Given the description of an element on the screen output the (x, y) to click on. 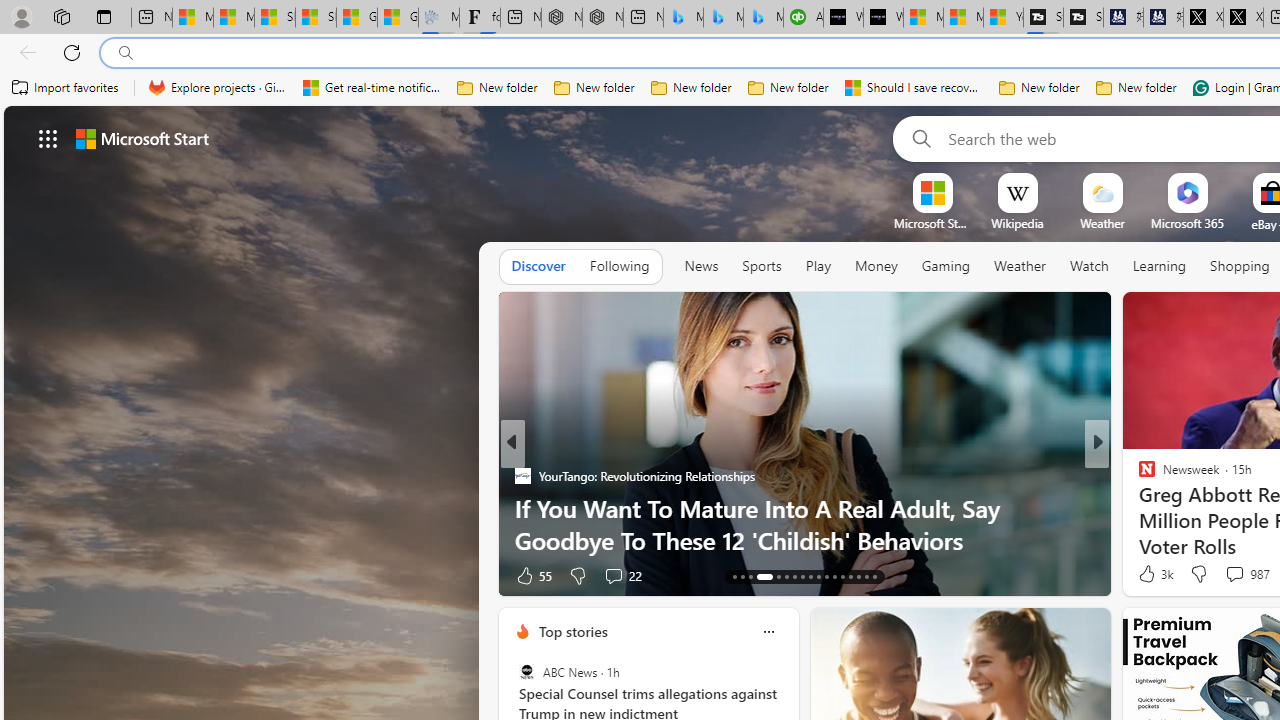
AutomationID: tab-22 (818, 576)
Sports (761, 267)
View comments 251 Comment (632, 574)
Housely (1138, 475)
The Weather Channel (1138, 475)
Money (876, 267)
PsychLove (1138, 475)
Sports (761, 265)
View comments 1 Comment (1234, 574)
